Given the description of an element on the screen output the (x, y) to click on. 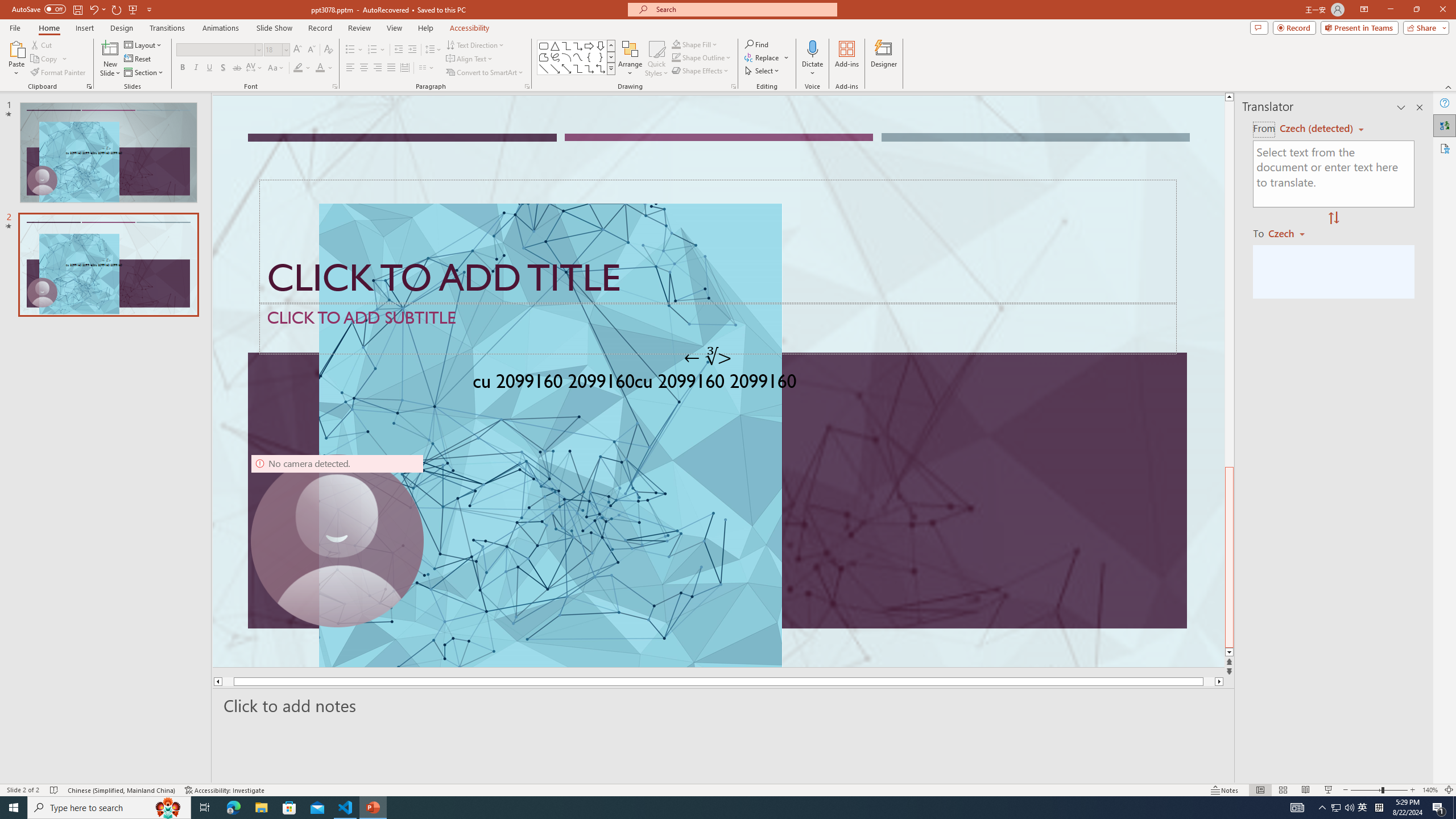
Shape Fill Dark Green, Accent 2 (675, 44)
